Given the description of an element on the screen output the (x, y) to click on. 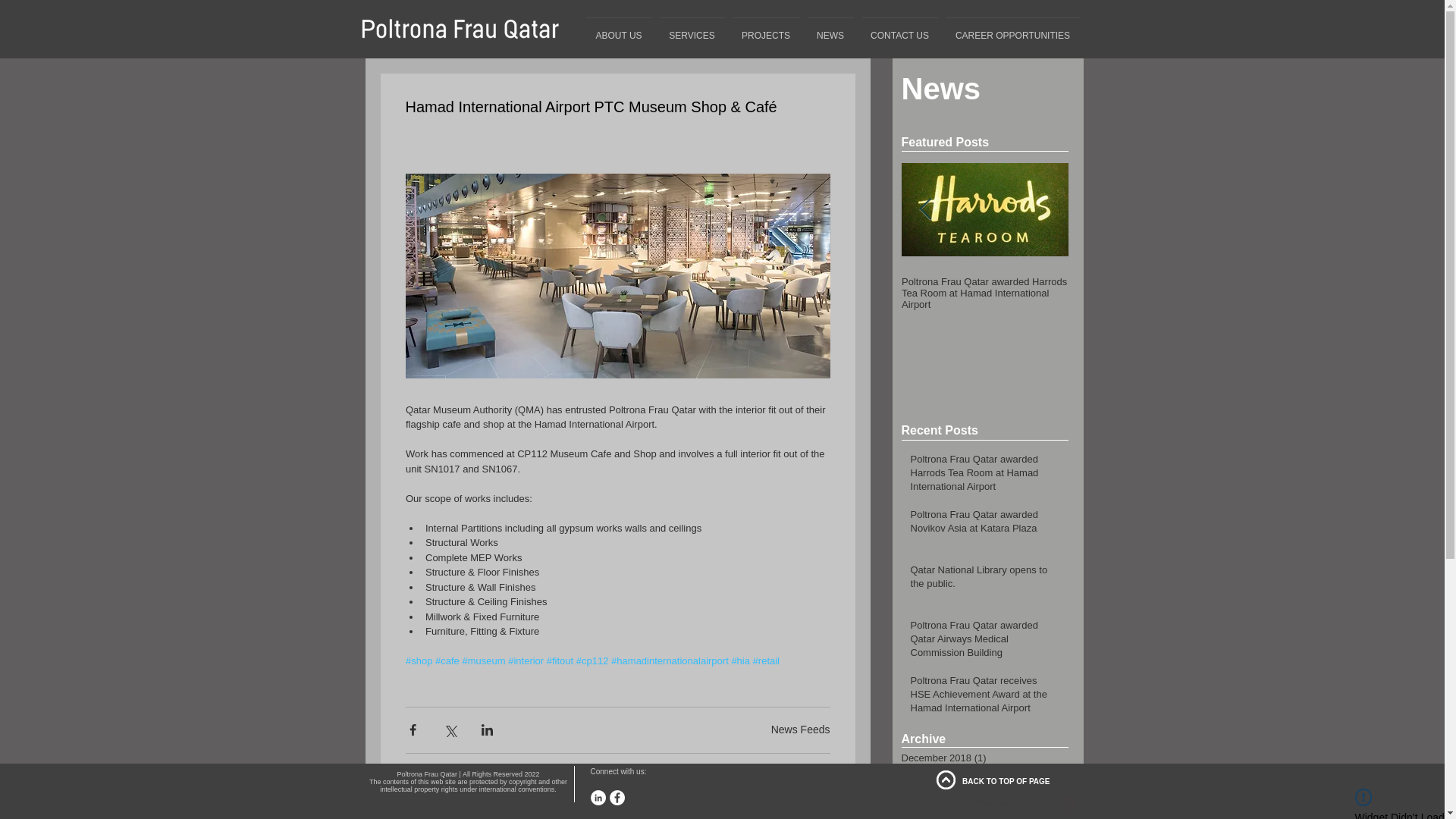
ABOUT US (619, 28)
News (940, 95)
News Feeds (800, 729)
Qatar National Library opens to the public. (1317, 287)
Poltrona Frau Qatar awarded Novikov Asia at Katara Plaza (979, 524)
SERVICES (691, 28)
Post not marked as liked (822, 774)
PROJECTS (765, 28)
Qatar National Library opens to the public. (979, 580)
CAREER OPPORTUNITIES (1012, 28)
NEWS (830, 28)
